Given the description of an element on the screen output the (x, y) to click on. 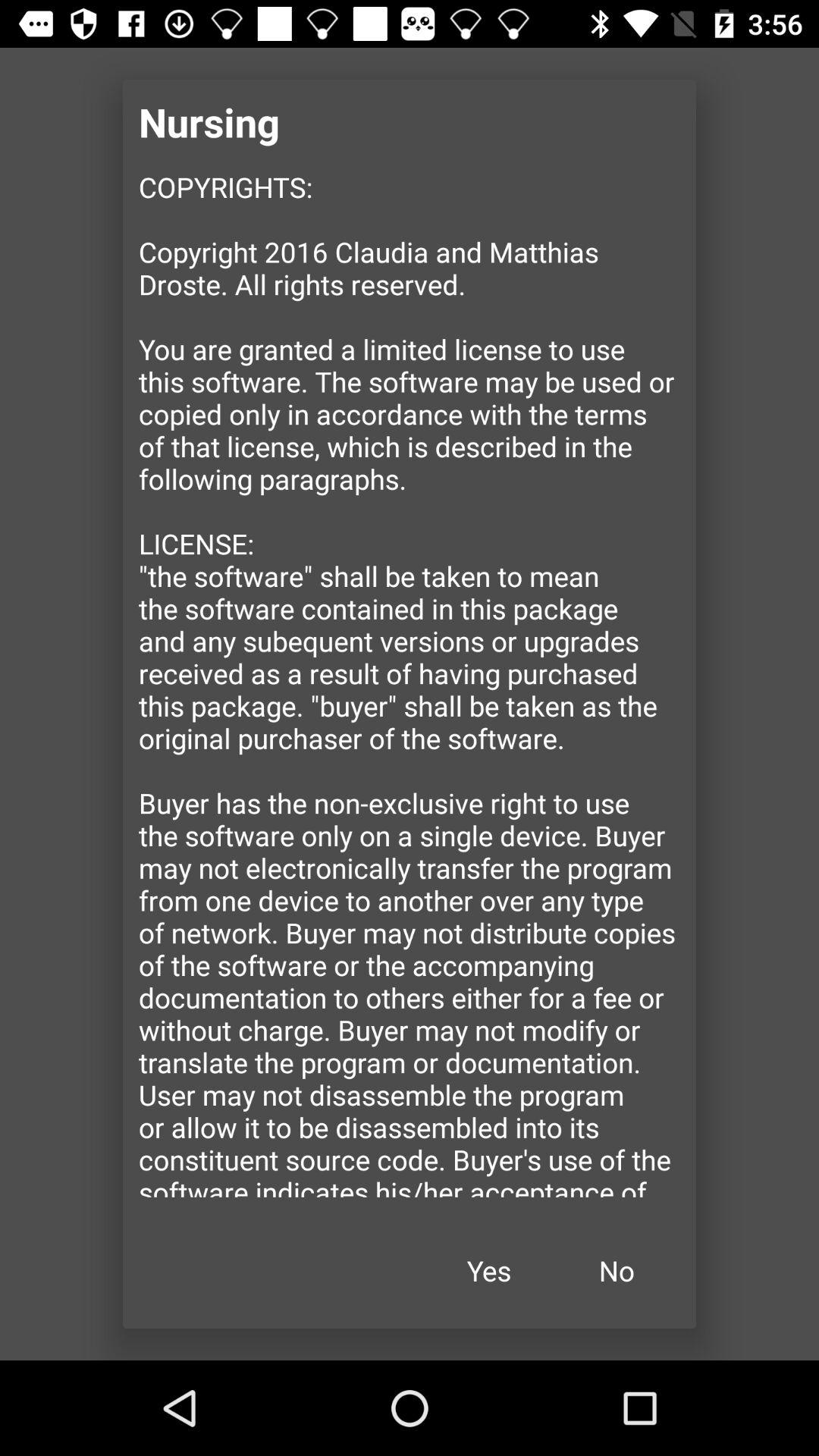
select the item to the right of the yes item (616, 1270)
